Given the description of an element on the screen output the (x, y) to click on. 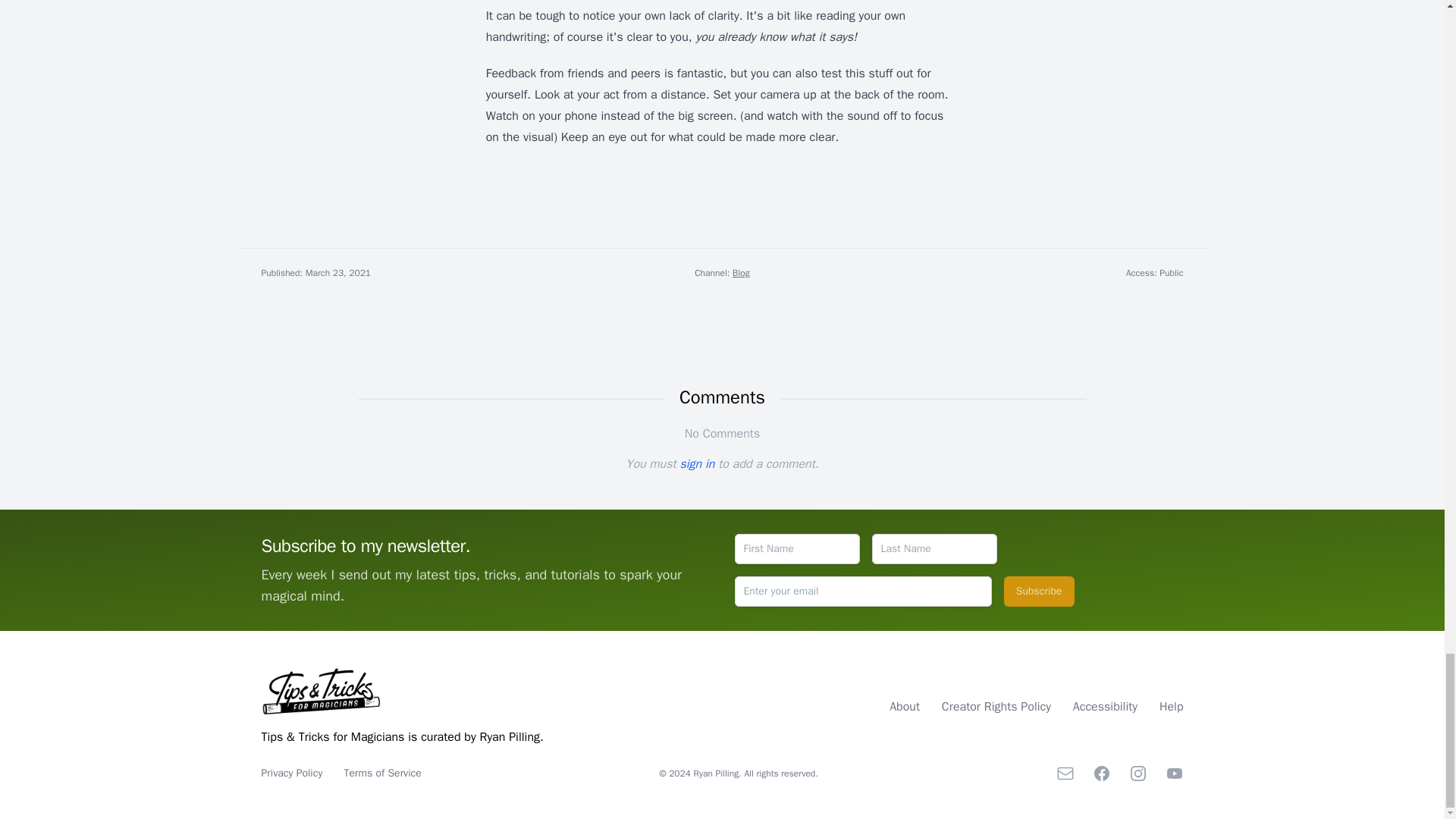
Privacy Policy (292, 772)
Help (1170, 706)
Subscribe (1039, 591)
Instagram (1137, 773)
Terms of Service (382, 772)
YouTube (1173, 773)
About (906, 706)
Accessibility (1107, 706)
Blog (740, 272)
Creator Rights Policy (998, 706)
Facebook (1100, 773)
Email (1064, 773)
sign in (696, 464)
